Given the description of an element on the screen output the (x, y) to click on. 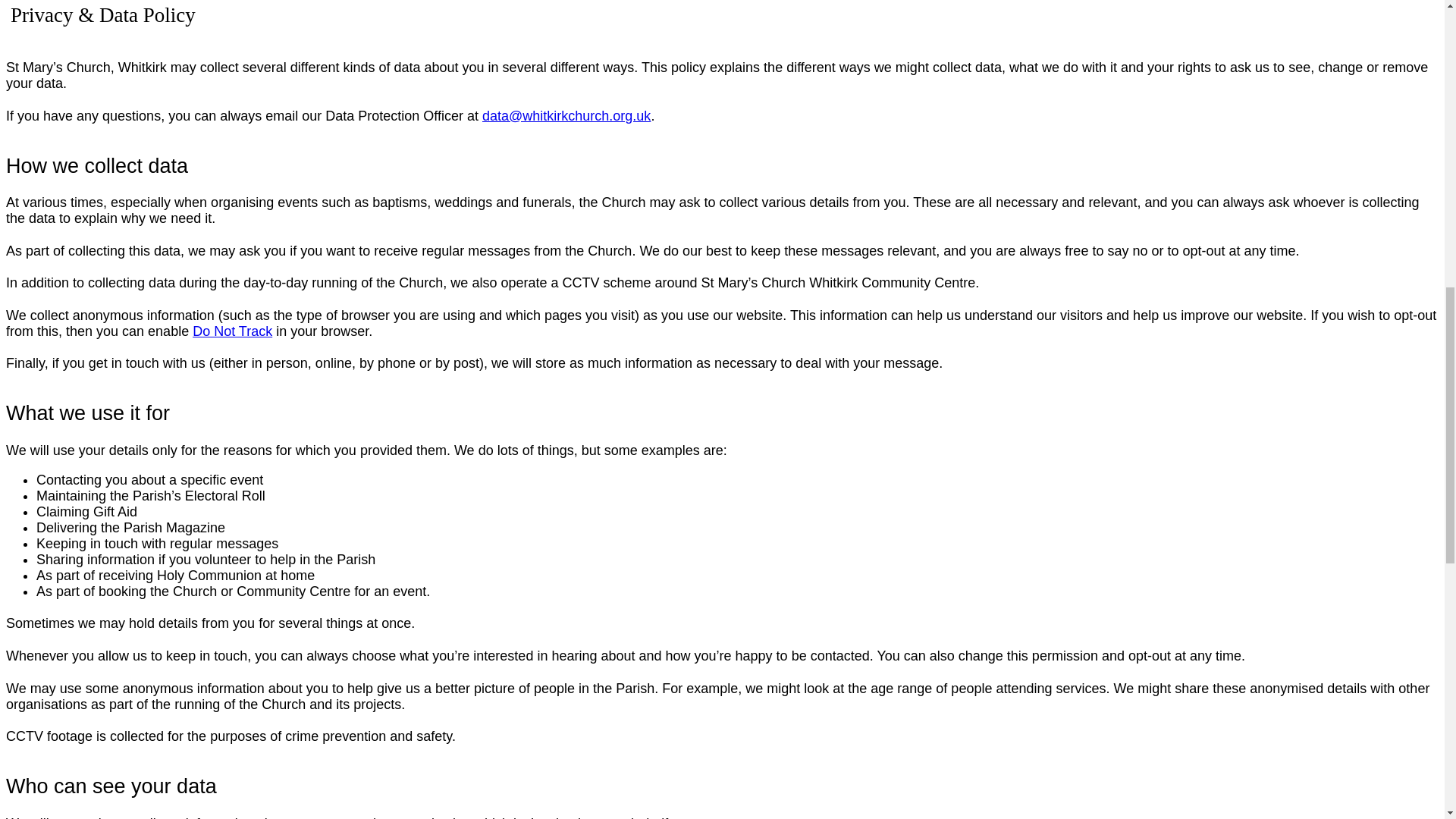
Do Not Track (232, 331)
